Given the description of an element on the screen output the (x, y) to click on. 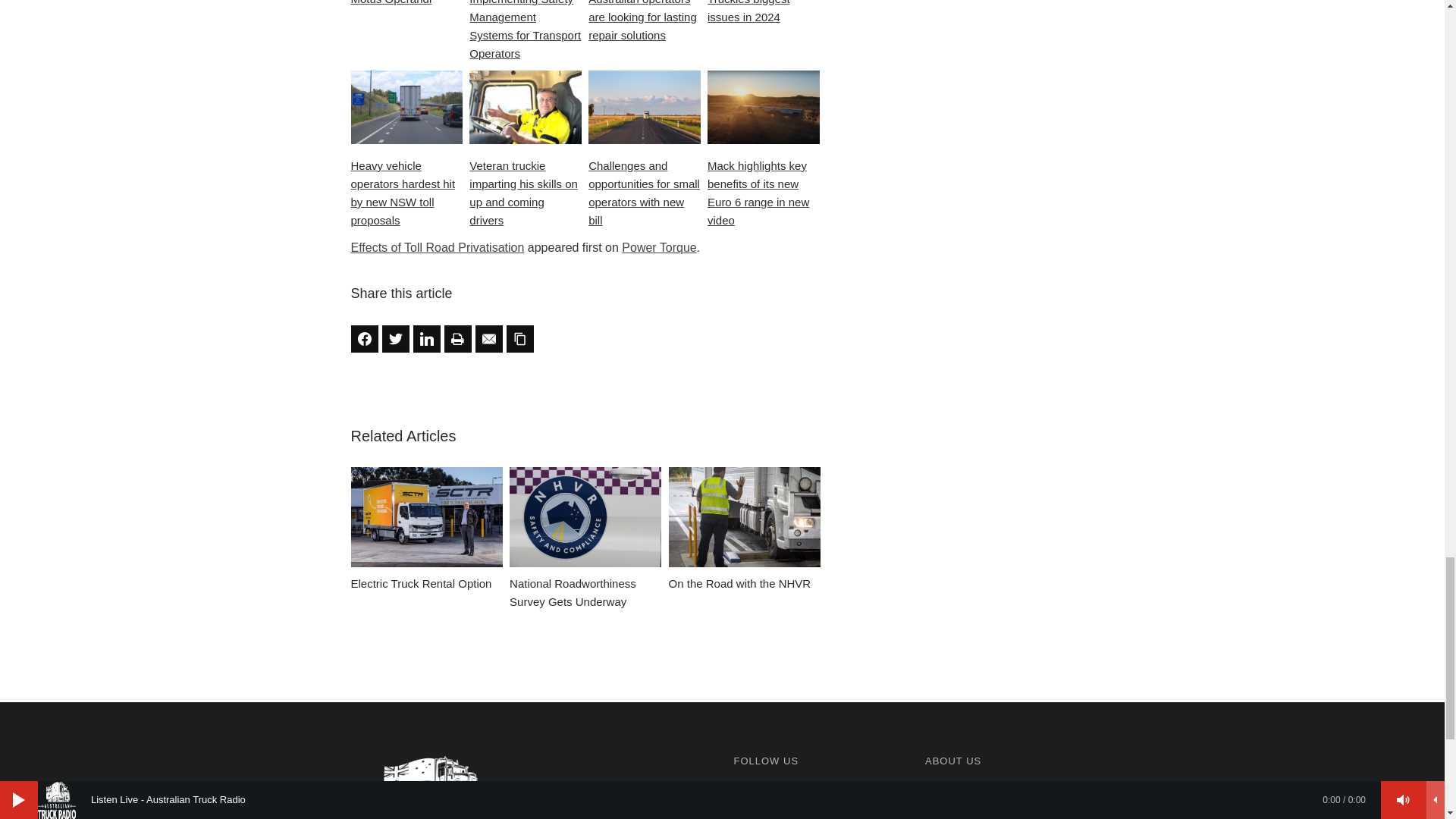
Power Torque (658, 246)
Effects of Toll Road Privatisation (437, 246)
Share on Twitter (395, 338)
Share on LinkedIn (425, 338)
Motus Operandi (406, 4)
Truckies biggest issues in 2024 (763, 13)
Share on Print (457, 338)
Share on Facebook (363, 338)
